Given the description of an element on the screen output the (x, y) to click on. 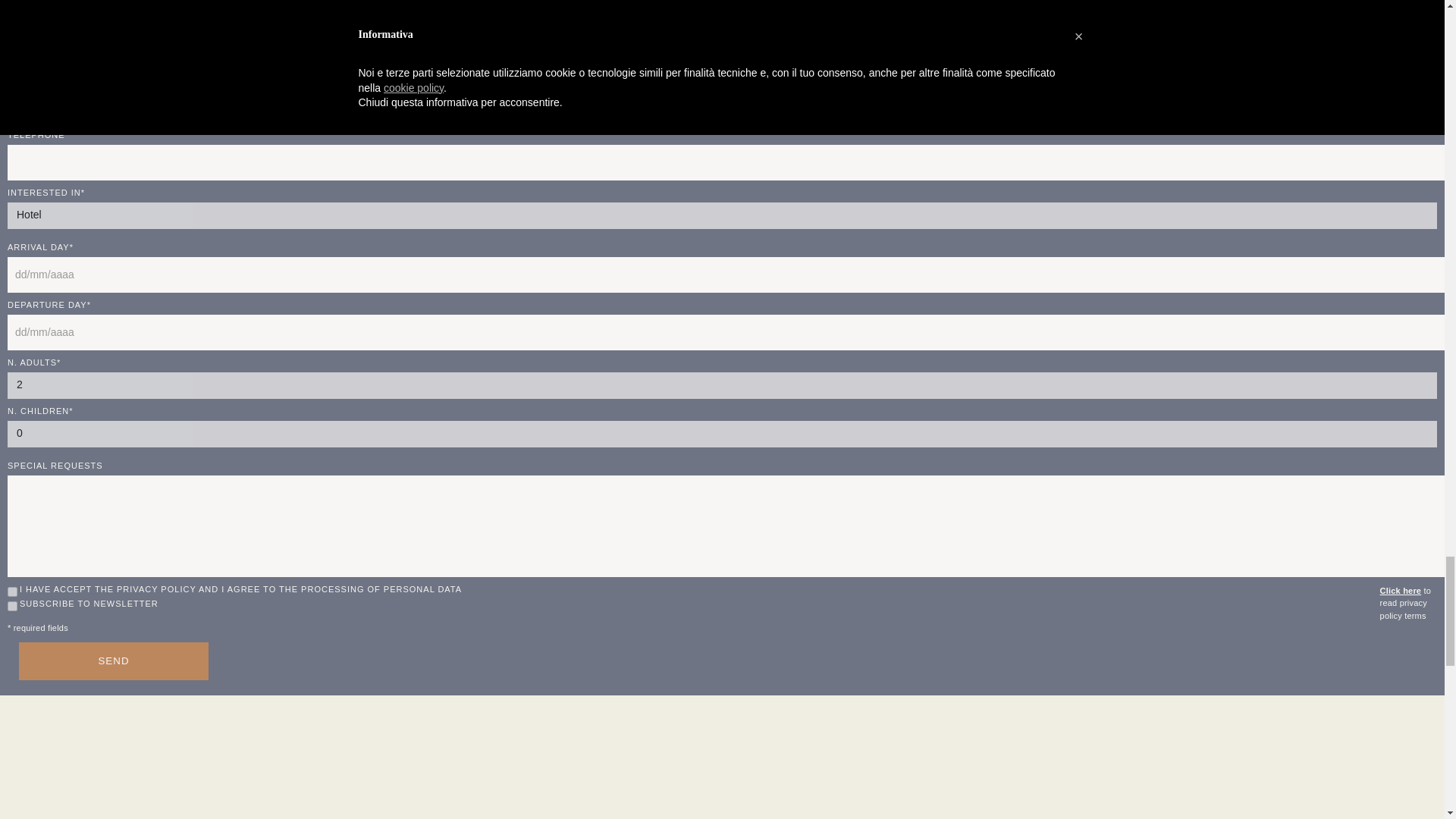
Privacy Policy (1401, 590)
Send (113, 661)
